Given the description of an element on the screen output the (x, y) to click on. 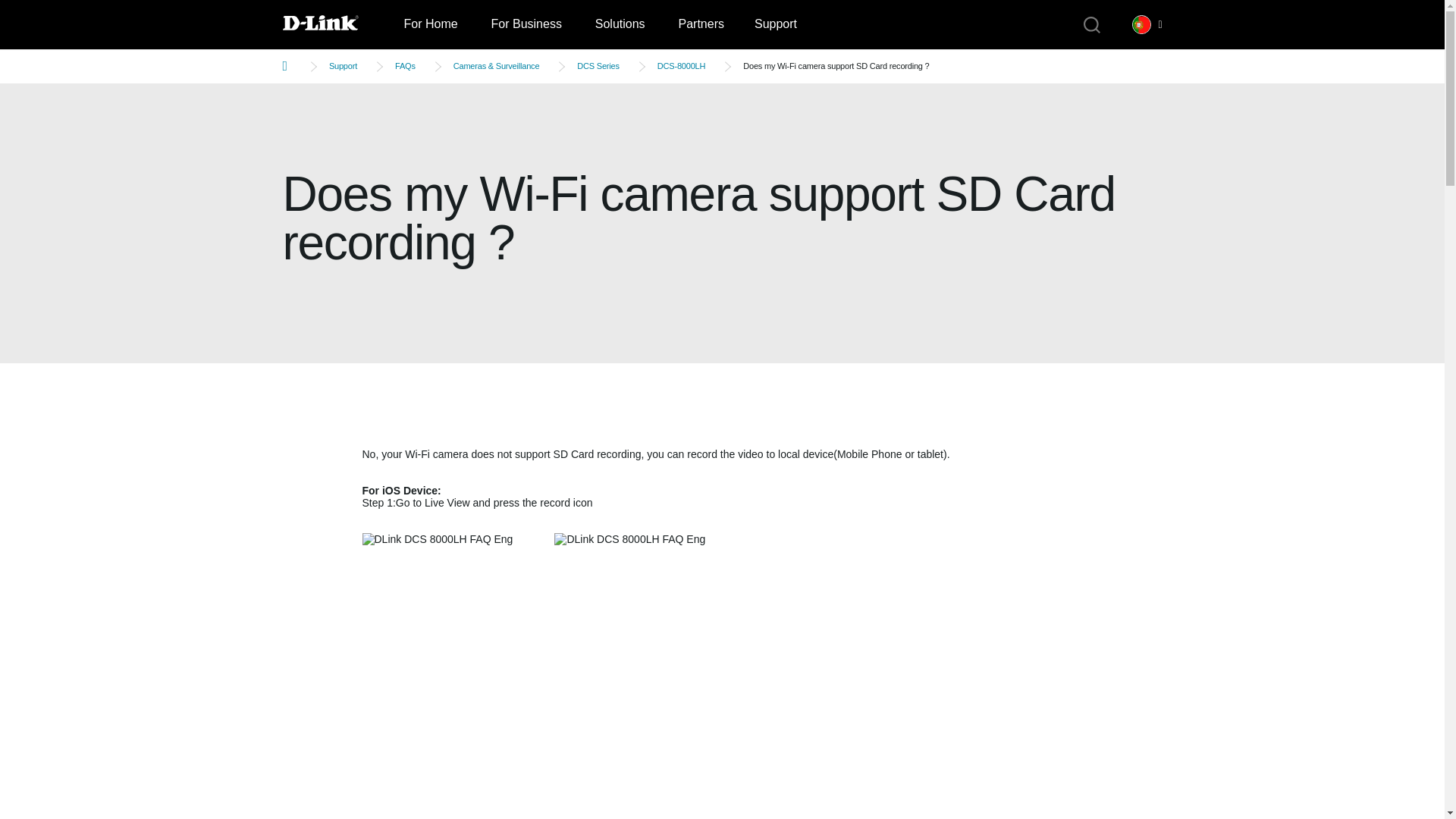
D-Link (335, 24)
Support (775, 24)
For Business (526, 24)
Solutions (620, 24)
For Home (429, 24)
Partners (700, 24)
